Given the description of an element on the screen output the (x, y) to click on. 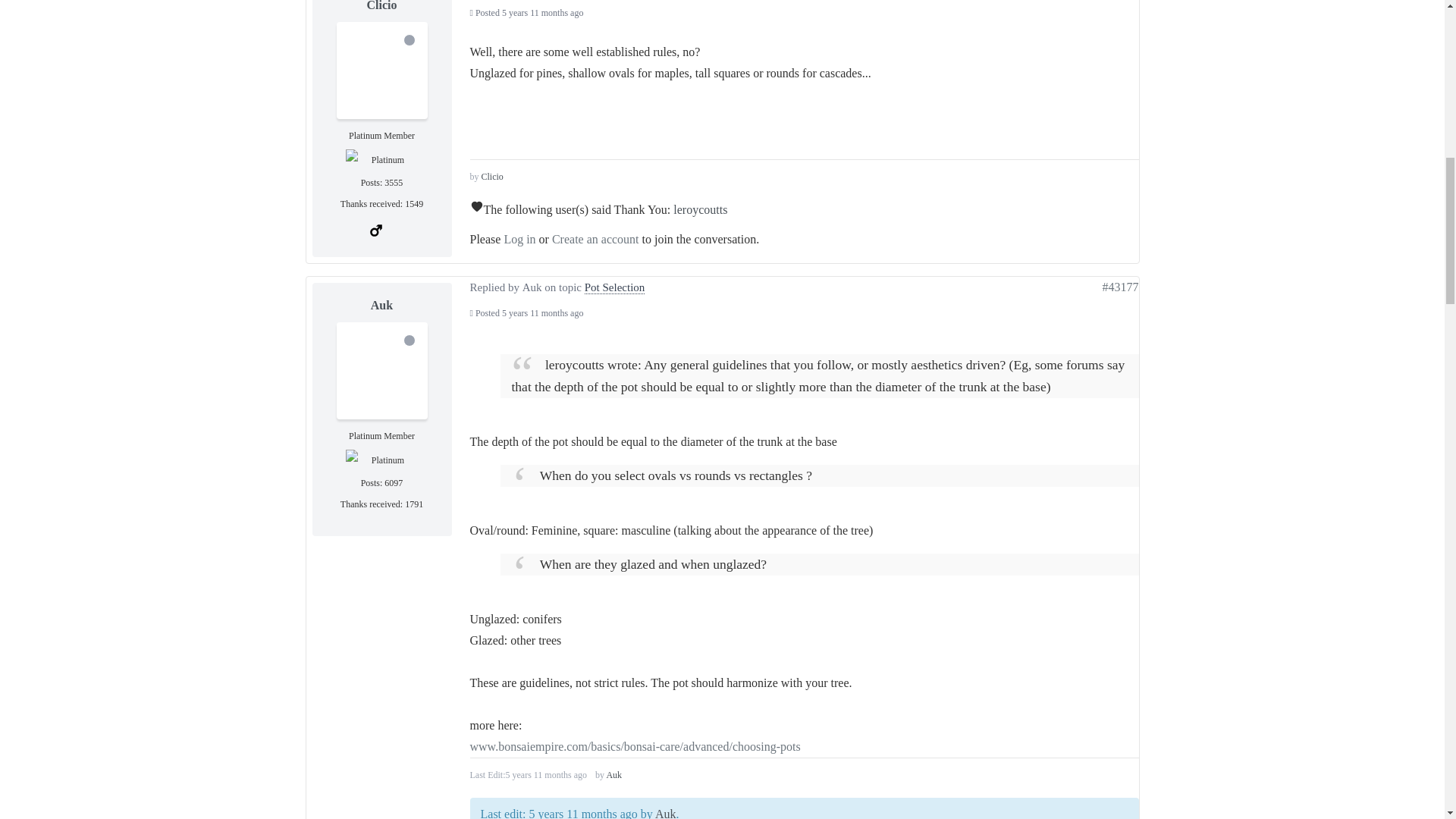
Clicio's Avatar (382, 66)
Auk's Avatar (382, 366)
31 Jul 2018 09:18 (542, 312)
31 Jul 2018 08:21 (542, 12)
